Given the description of an element on the screen output the (x, y) to click on. 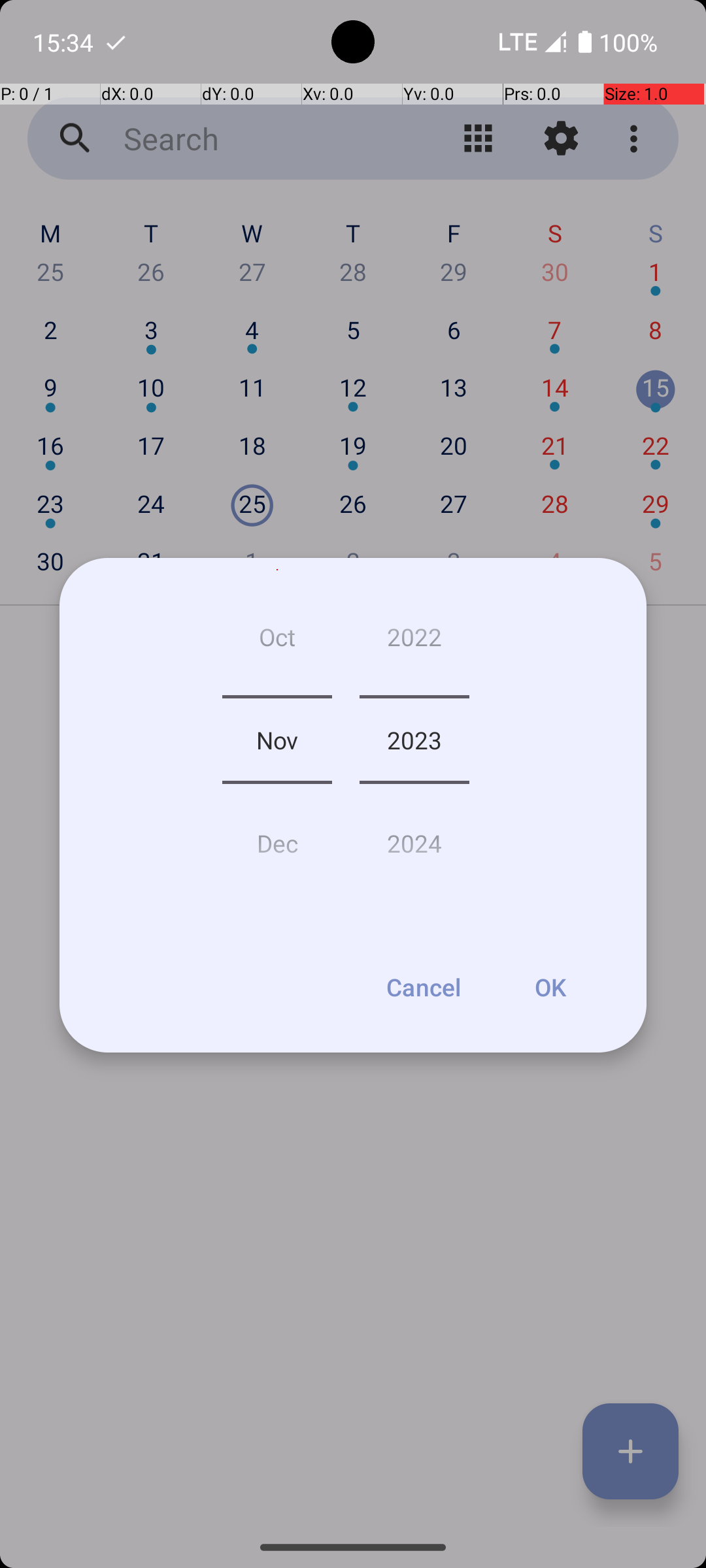
Dec Element type: android.widget.Button (277, 837)
